Given the description of an element on the screen output the (x, y) to click on. 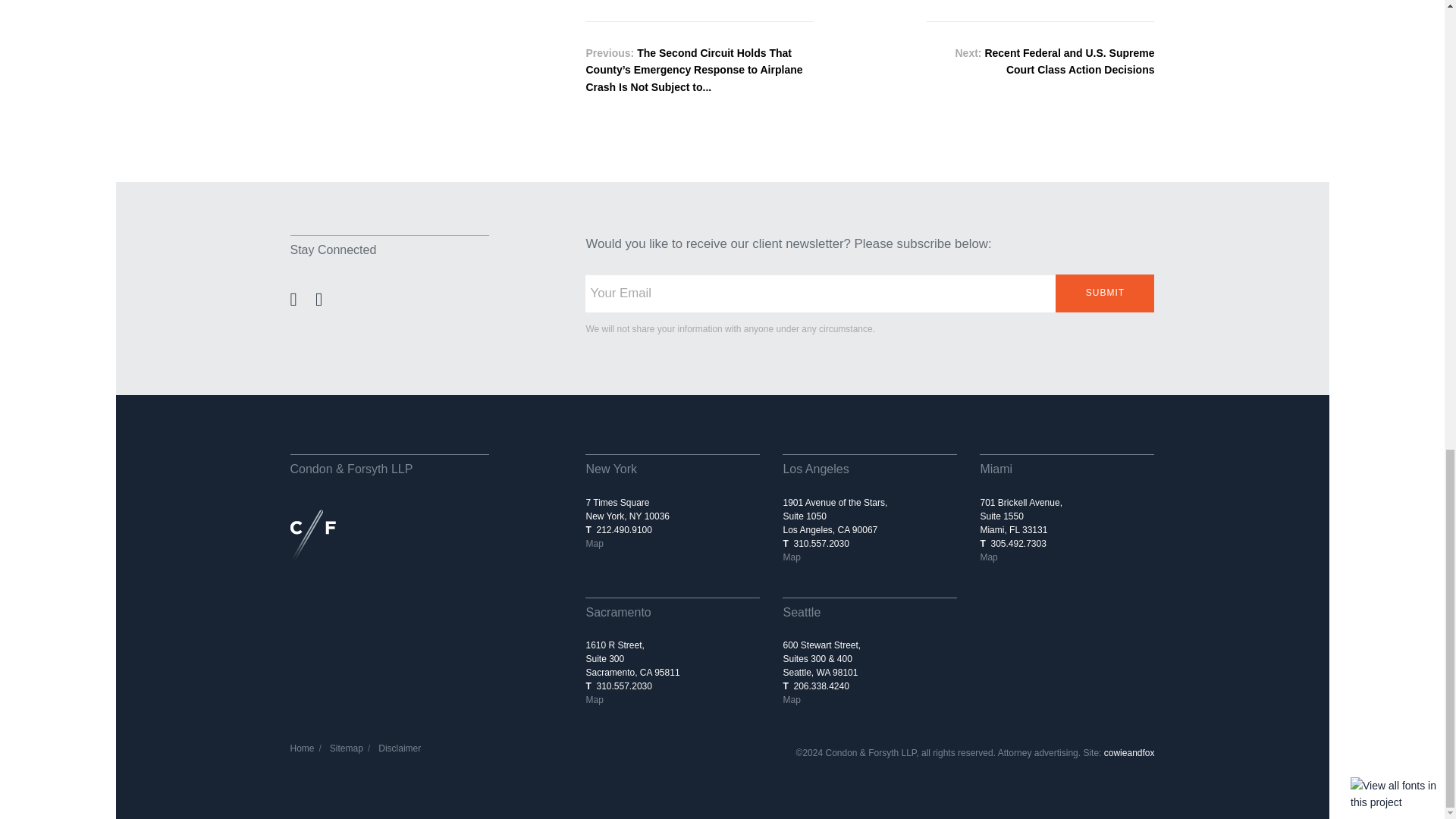
Map (593, 543)
Map (791, 699)
Submit (1104, 293)
cowieandfox (1128, 752)
Recent Federal and U.S. Supreme Court Class Action Decisions (1069, 61)
Map (593, 699)
Submit (1104, 293)
Condon Law Sacramento Angeles map (593, 699)
Condon Law Miami map (988, 557)
Recent Federal and U.S. Supreme Court Class Action Decisions (1069, 61)
Cowie and Fox, Vancouver web design and advertising (1128, 752)
Condon Law Los Angeles map (791, 557)
Map (988, 557)
Disclaimer (399, 748)
Map (791, 557)
